Given the description of an element on the screen output the (x, y) to click on. 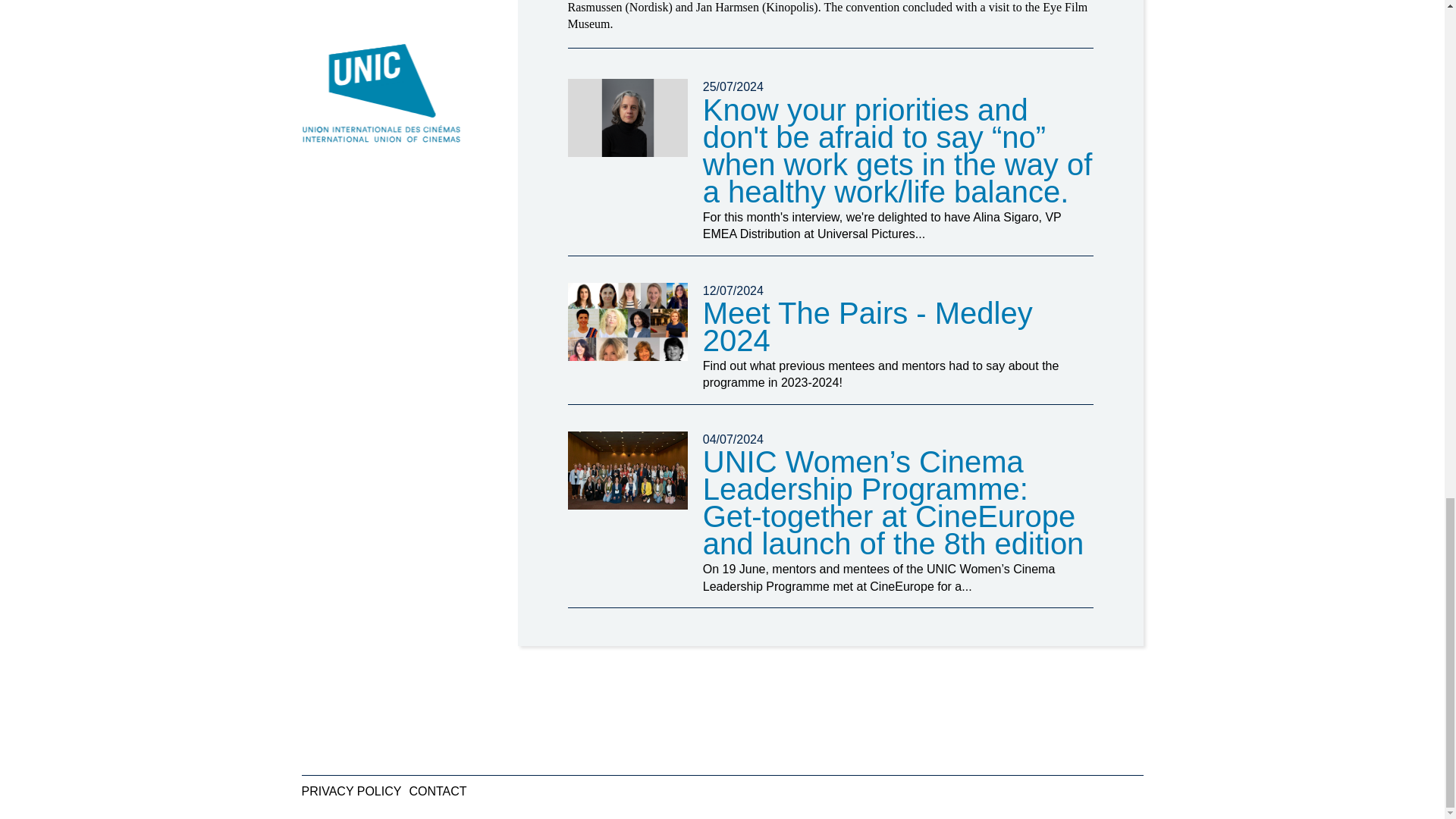
Meet The Pairs - Medley 2024 (627, 321)
Meet The Pairs - Medley 2024 (867, 326)
Meet The Pairs - Medley 2024 (867, 326)
